Given the description of an element on the screen output the (x, y) to click on. 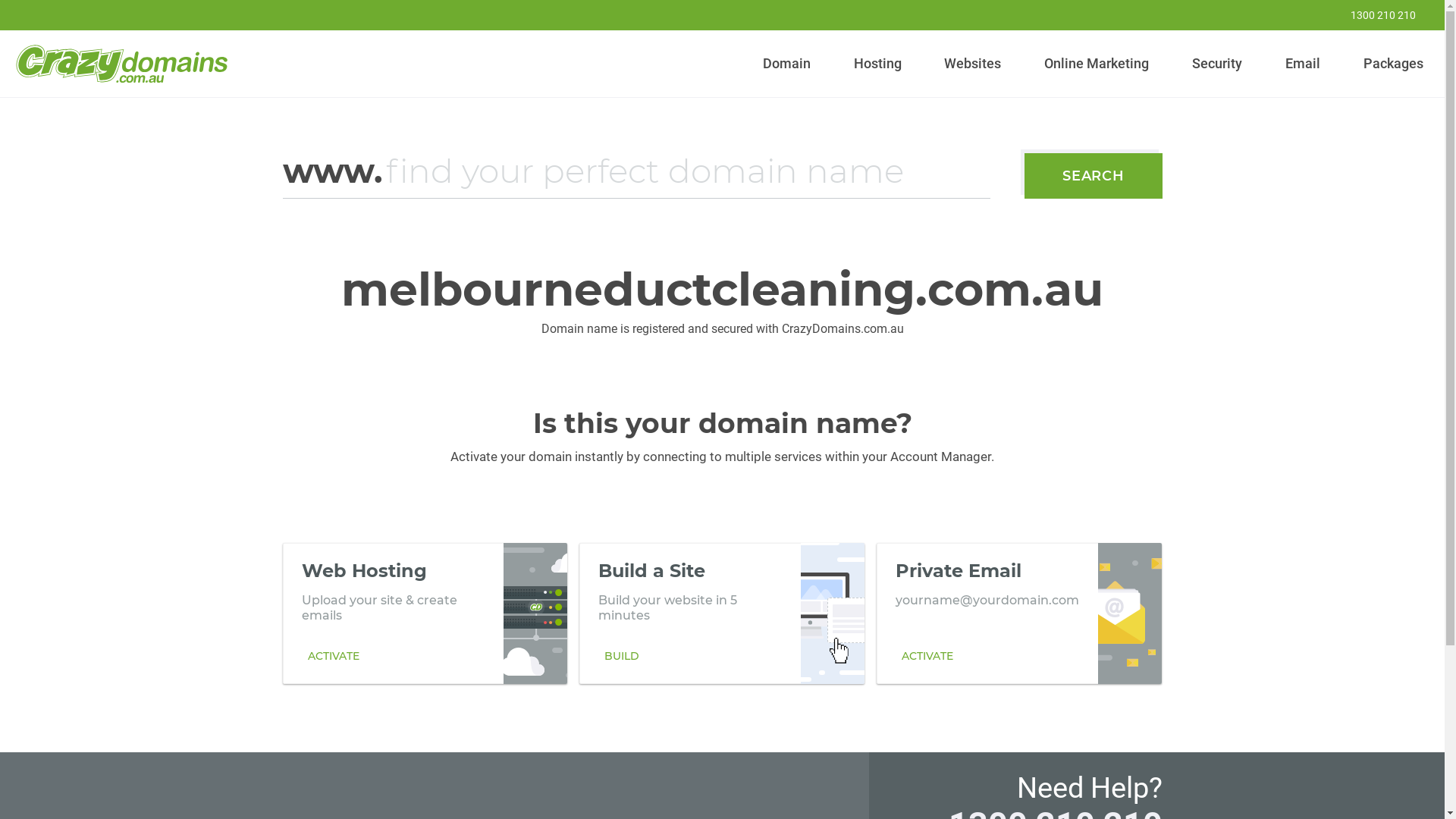
Online Marketing Element type: text (1096, 63)
Security Element type: text (1217, 63)
SEARCH Element type: text (1092, 175)
Packages Element type: text (1392, 63)
1300 210 210 Element type: text (1373, 15)
Email Element type: text (1302, 63)
Websites Element type: text (972, 63)
Build a Site
Build your website in 5 minutes
BUILD Element type: text (721, 613)
Hosting Element type: text (877, 63)
Private Email
yourname@yourdomain.com
ACTIVATE Element type: text (1018, 613)
Web Hosting
Upload your site & create emails
ACTIVATE Element type: text (424, 613)
Domain Element type: text (786, 63)
